Given the description of an element on the screen output the (x, y) to click on. 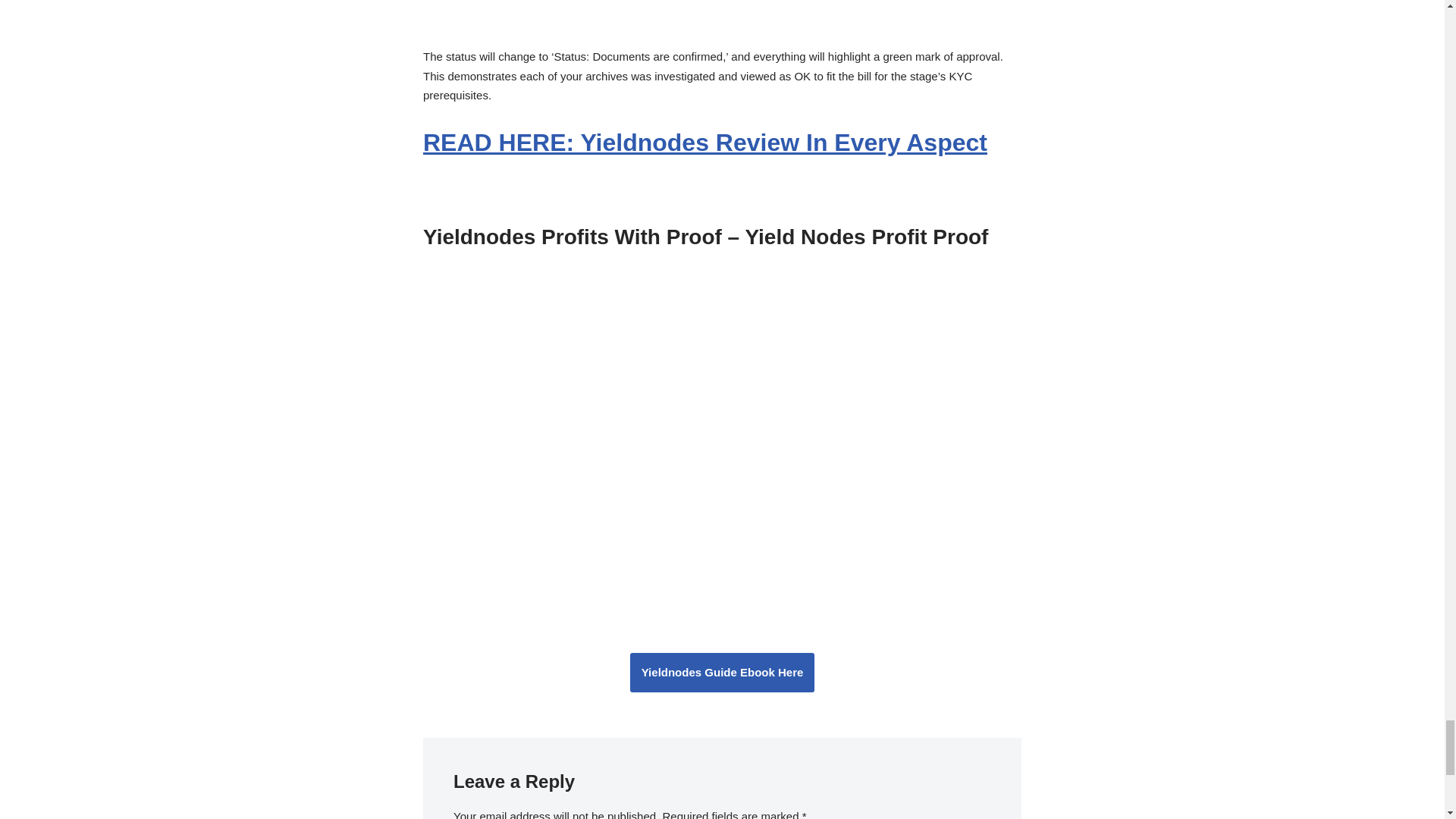
Yieldnodes Guide Ebook Here (722, 672)
READ HERE: Yieldnodes Review In Every Aspect (705, 142)
Yieldnodes Guide Ebook Here (722, 671)
